Given the description of an element on the screen output the (x, y) to click on. 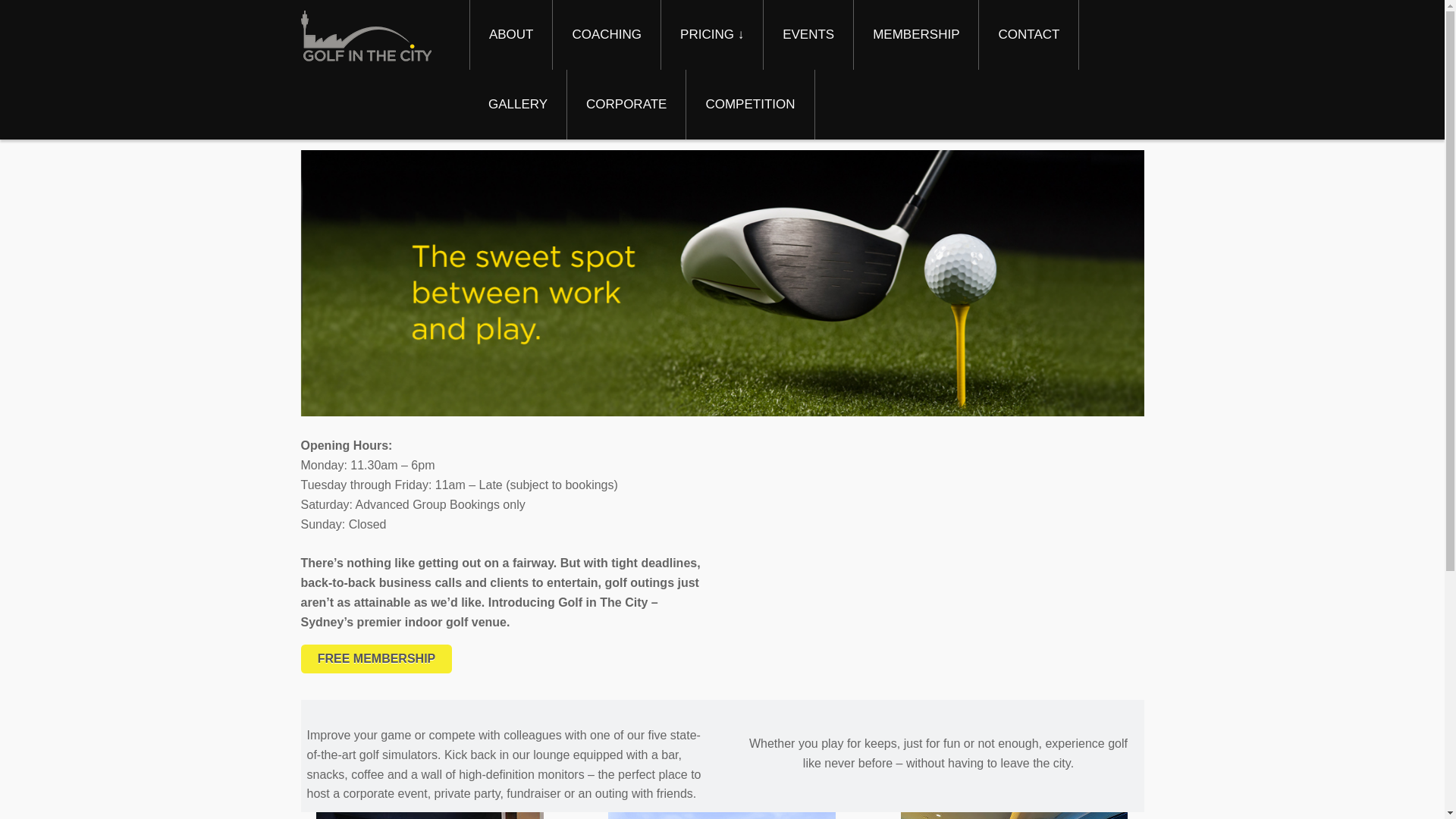
COMPETITION Element type: text (749, 104)
GALLERY Element type: text (517, 104)
FREE MEMBERSHIP Element type: text (375, 658)
CORPORATE Element type: text (626, 104)
ABOUT Element type: text (511, 34)
COACHING Element type: text (606, 34)
CONTACT Element type: text (1028, 34)
MEMBERSHIP Element type: text (915, 34)
EVENTS Element type: text (808, 34)
